Given the description of an element on the screen output the (x, y) to click on. 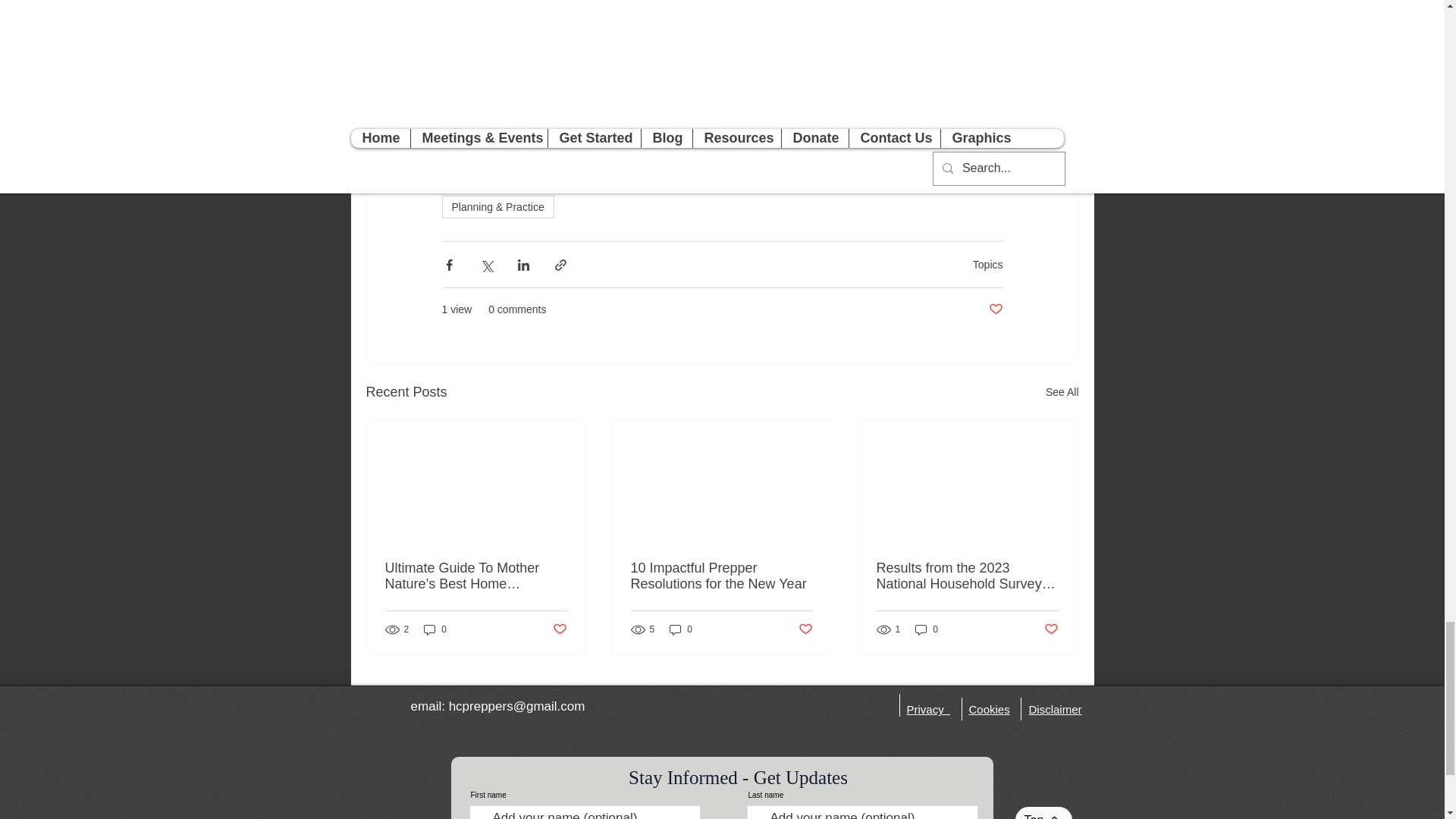
Post not marked as liked (1050, 629)
Post not marked as liked (995, 309)
0 (435, 629)
Post not marked as liked (804, 629)
Post not marked as liked (558, 629)
0 (681, 629)
See All (1061, 392)
Topics (987, 264)
10 Impactful Prepper Resolutions for the New Year (721, 576)
